Given the description of an element on the screen output the (x, y) to click on. 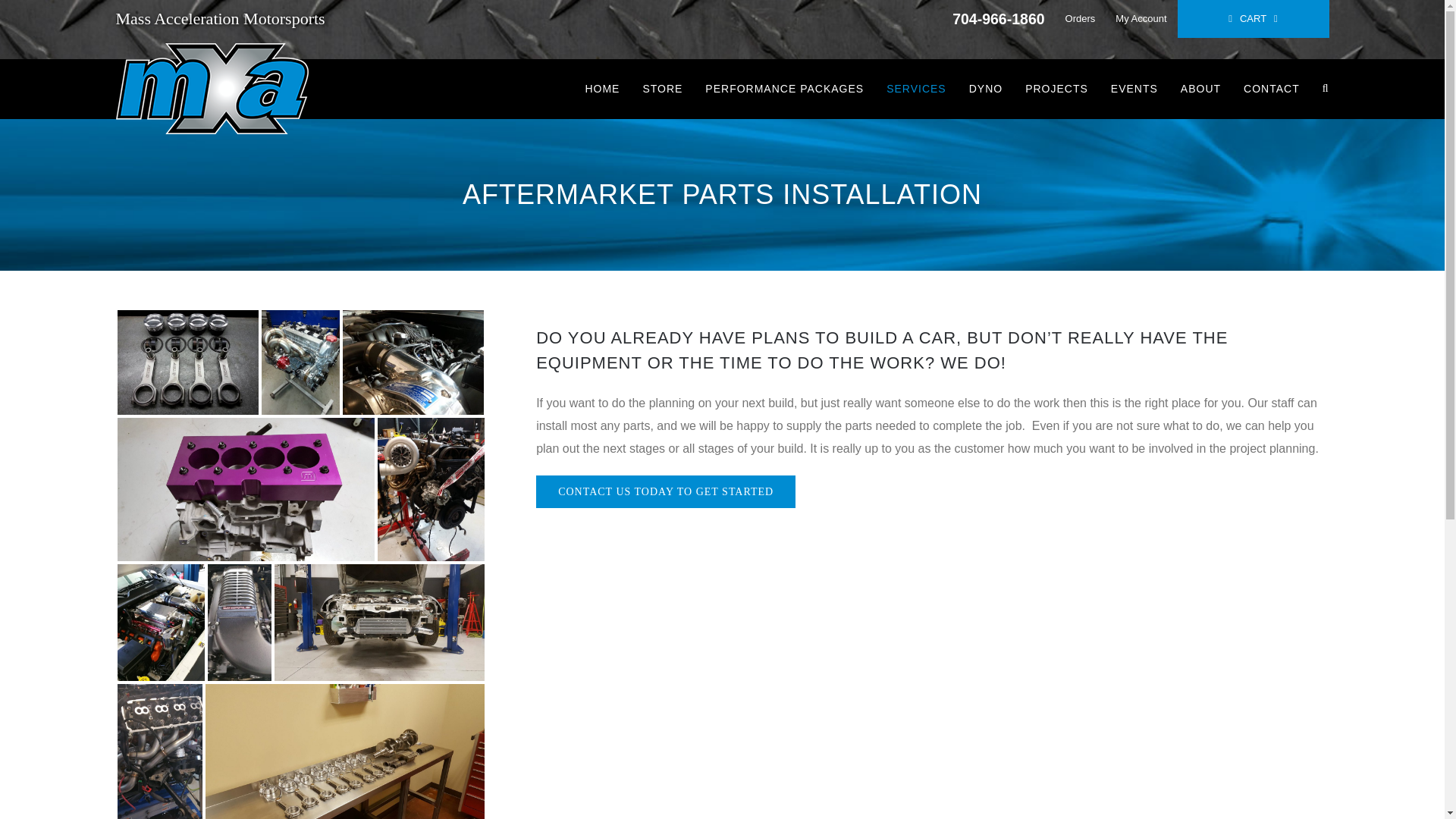
CART (1253, 18)
Log In (1208, 162)
PERFORMANCE PACKAGES (783, 87)
SERVICES (916, 87)
My Account (1140, 18)
PROJECTS (1056, 87)
Orders (1080, 18)
CONTACT (1271, 87)
704-966-1860 (998, 18)
